Given the description of an element on the screen output the (x, y) to click on. 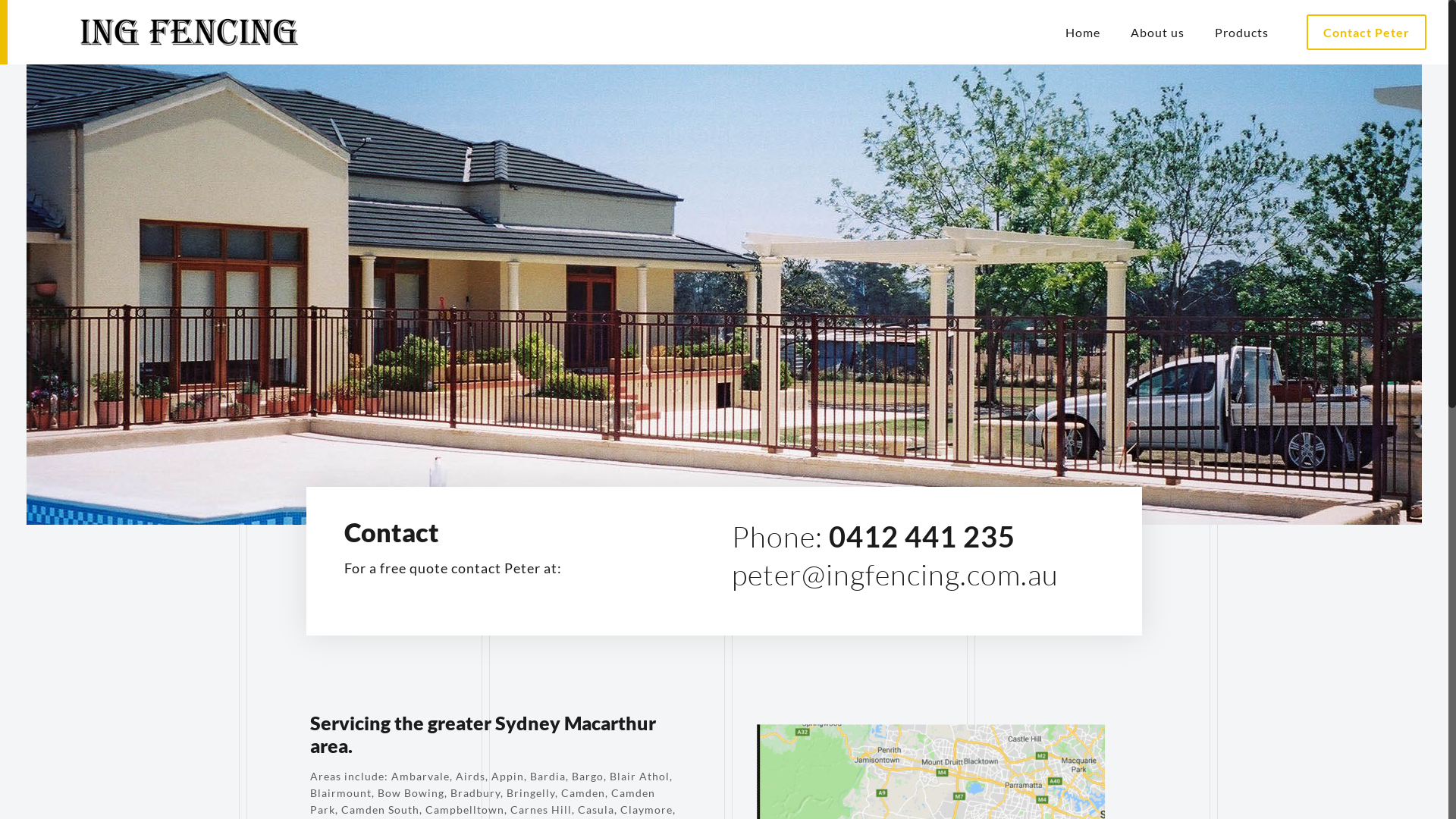
About us Element type: text (1157, 32)
Home Element type: text (1082, 32)
Products Element type: text (1241, 32)
peter@ingfencing.com.au Element type: text (894, 574)
ING Fencing Element type: hover (169, 32)
Contact Peter Element type: text (1366, 31)
0412 441 235 Element type: text (921, 535)
